Given the description of an element on the screen output the (x, y) to click on. 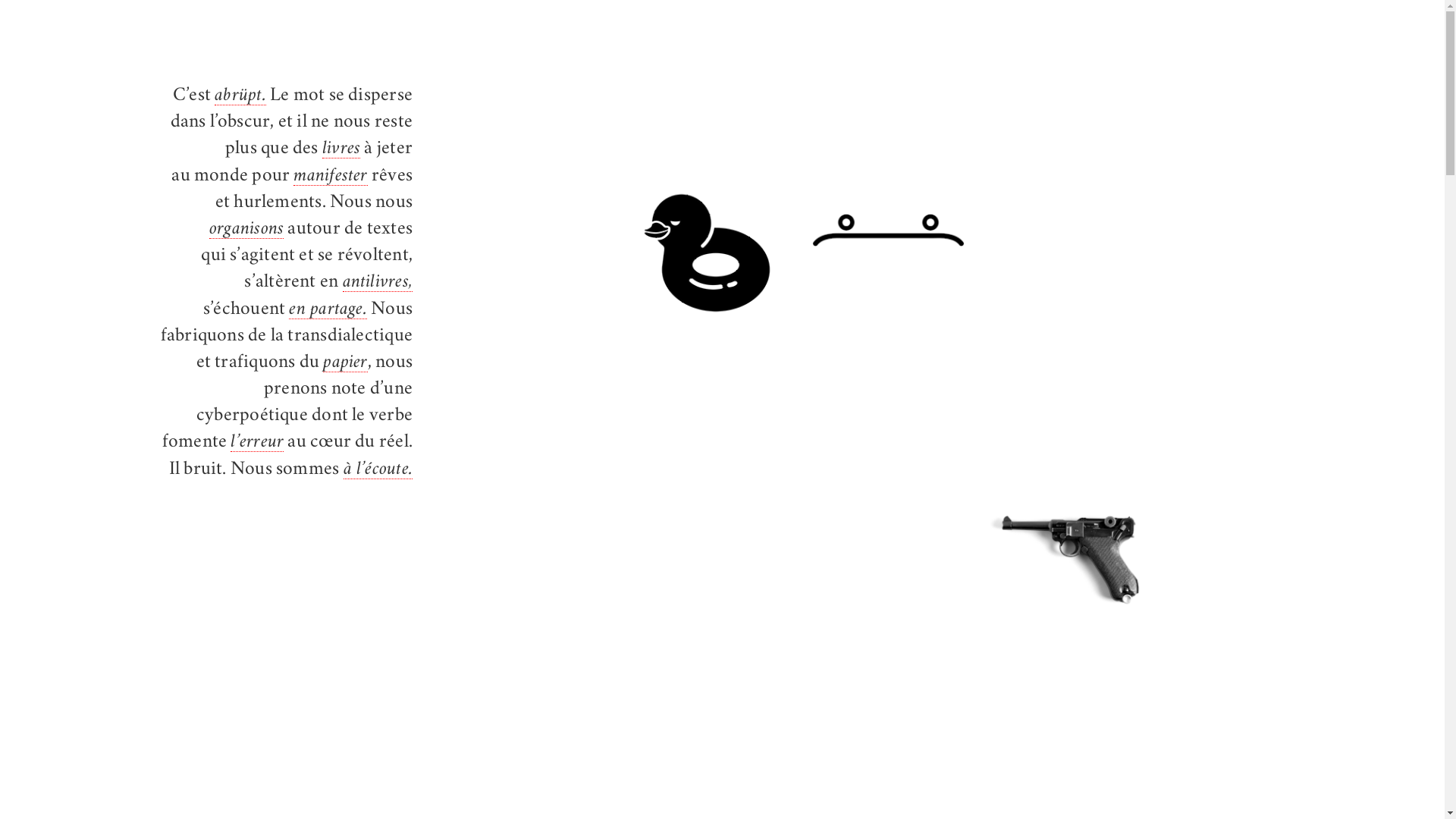
papier Element type: text (345, 363)
antilivres, Element type: text (377, 282)
livres Element type: text (341, 149)
manifester Element type: text (330, 176)
organisons Element type: text (246, 229)
en partage. Element type: text (327, 310)
